Given the description of an element on the screen output the (x, y) to click on. 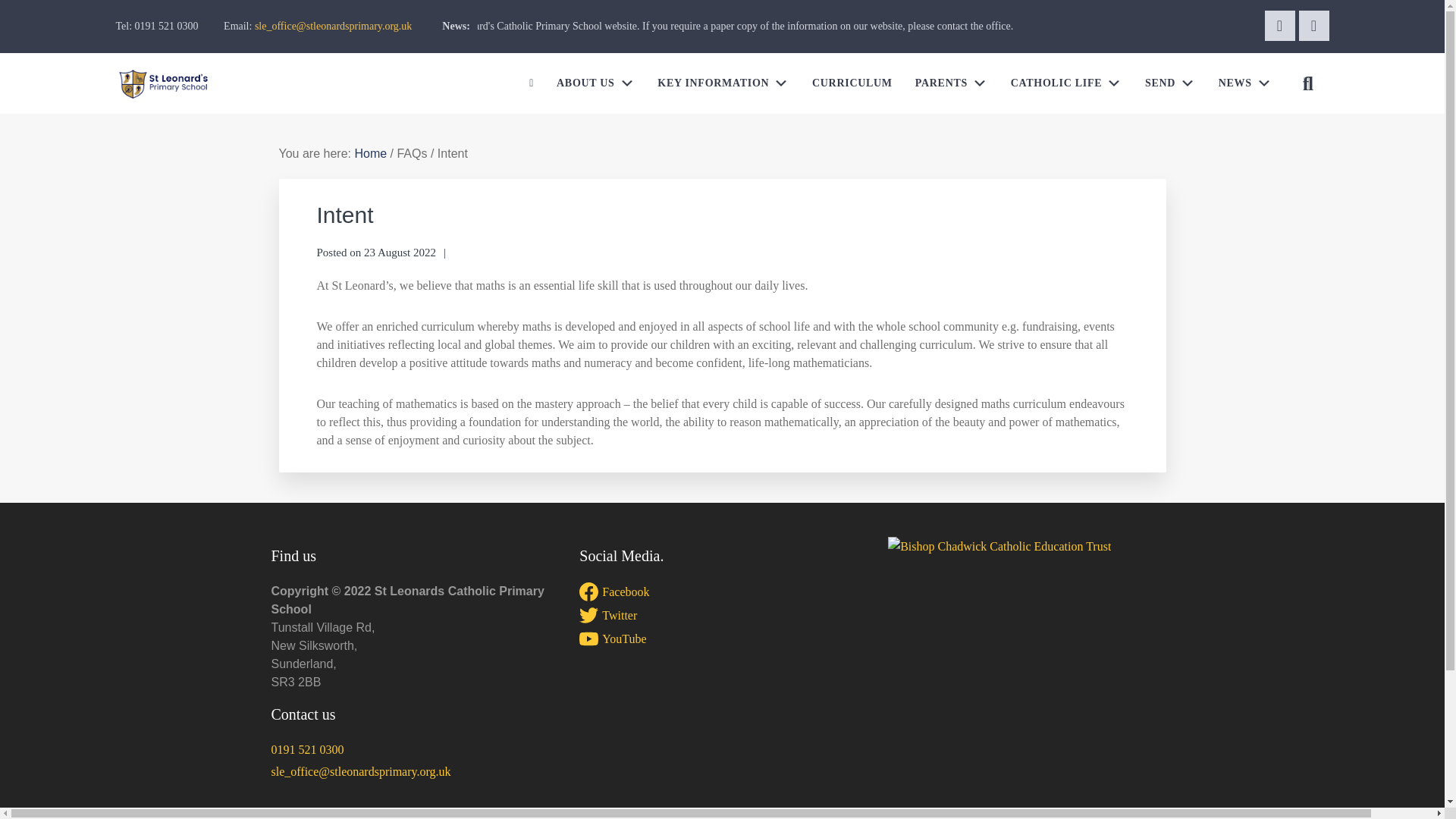
KEY INFORMATION (723, 83)
ABOUT US (595, 83)
CURRICULUM (852, 83)
PARENTS (951, 83)
Facebook for St Leonard's Catholic Primary School (1280, 25)
Twitter for St Leonard's Catholic Primary School (1312, 25)
